Given the description of an element on the screen output the (x, y) to click on. 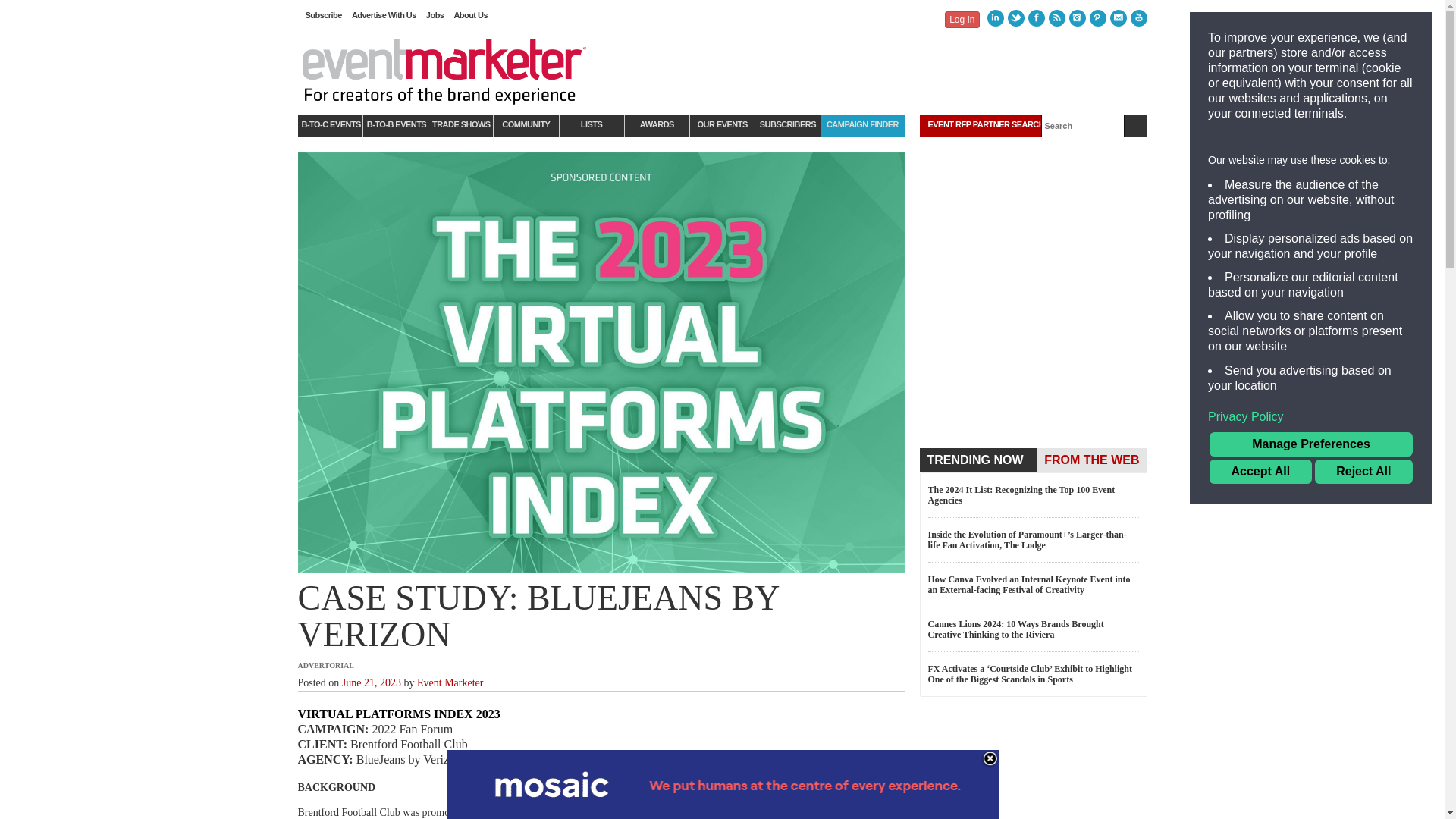
Facebook (1036, 17)
Subscribe (327, 15)
Twitter (1015, 17)
About Us (474, 15)
YouTube (1138, 17)
B-TO-C EVENTS (329, 125)
Reject All (1363, 471)
Advertise With Us (388, 15)
COMMUNITY (525, 125)
Log In (961, 19)
Pinterest (1097, 17)
Email (1117, 17)
Accept All (1260, 471)
Instagram (1077, 17)
TRADE SHOWS (460, 125)
